Given the description of an element on the screen output the (x, y) to click on. 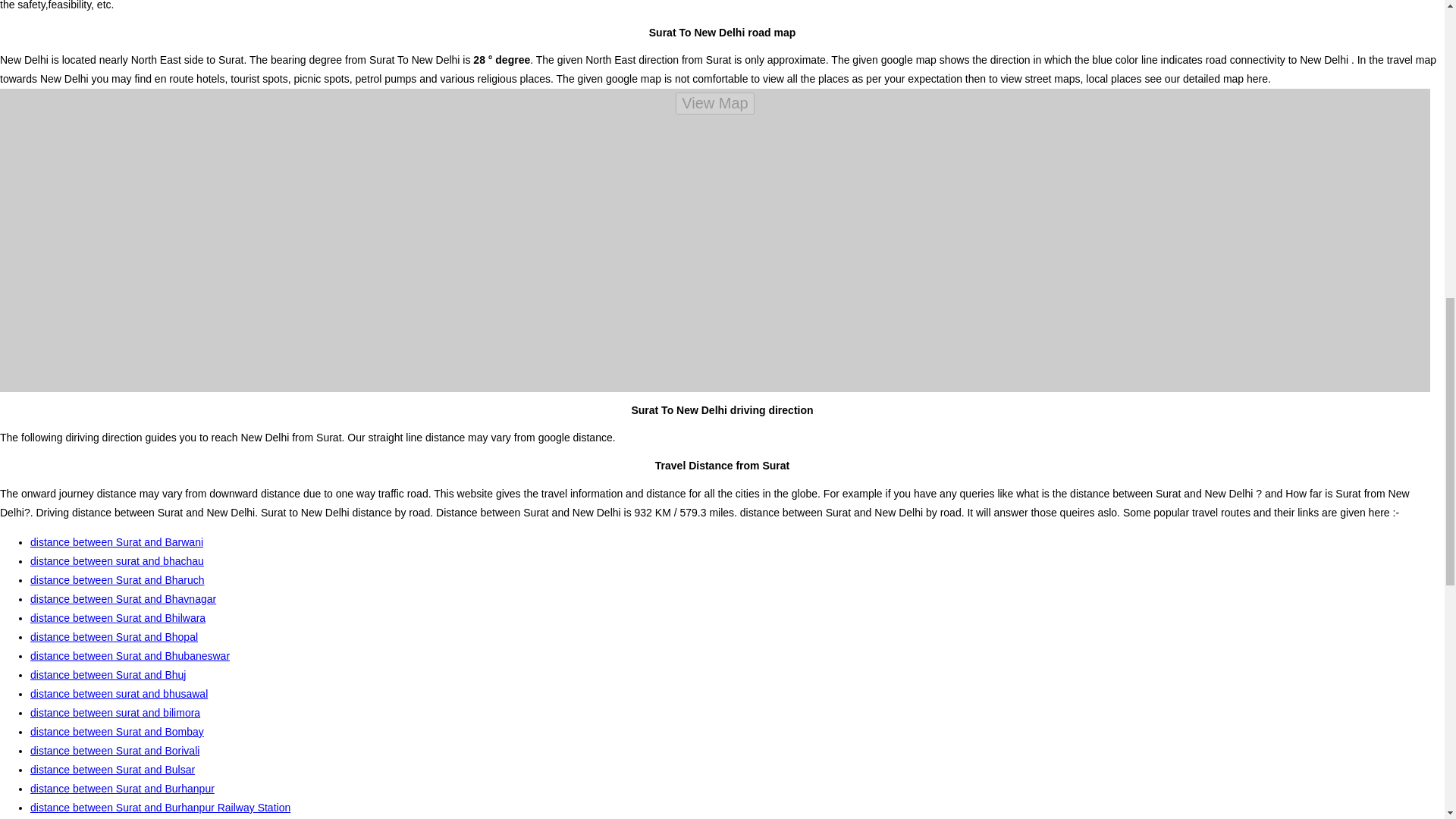
distance between Surat and Bhilwara (117, 617)
distance between Surat and Burhanpur Railway Station (159, 807)
distance between Surat and Bulsar (112, 769)
distance between Surat and Bhopal (114, 636)
distance between surat and bhusawal (119, 693)
distance between Surat and Bhuj (108, 674)
distance between Surat and Bharuch (117, 580)
distance between Surat and Bhubaneswar (130, 655)
View Map (714, 103)
distance between surat and bhachau (116, 561)
